Given the description of an element on the screen output the (x, y) to click on. 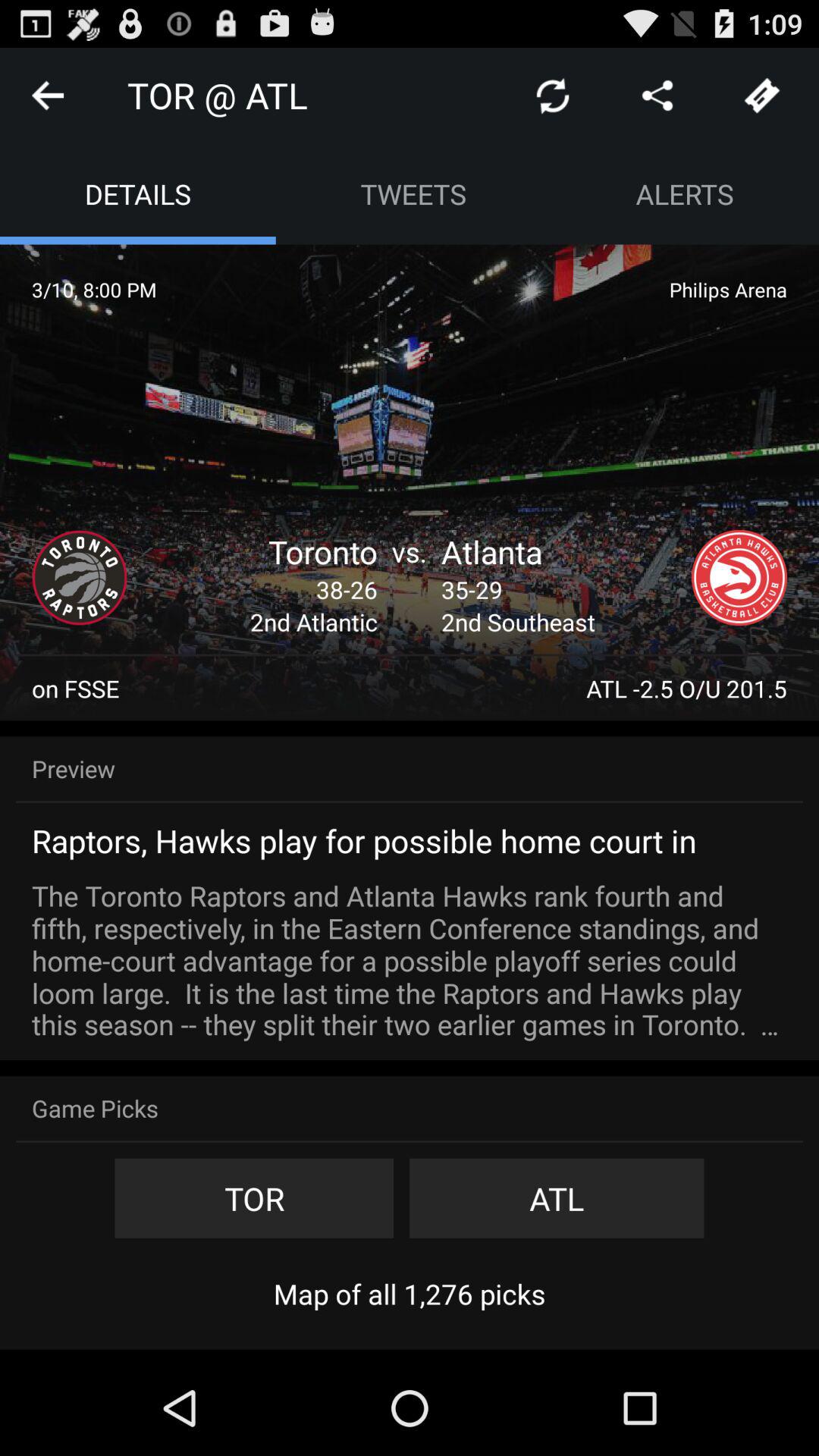
go back (47, 95)
